Given the description of an element on the screen output the (x, y) to click on. 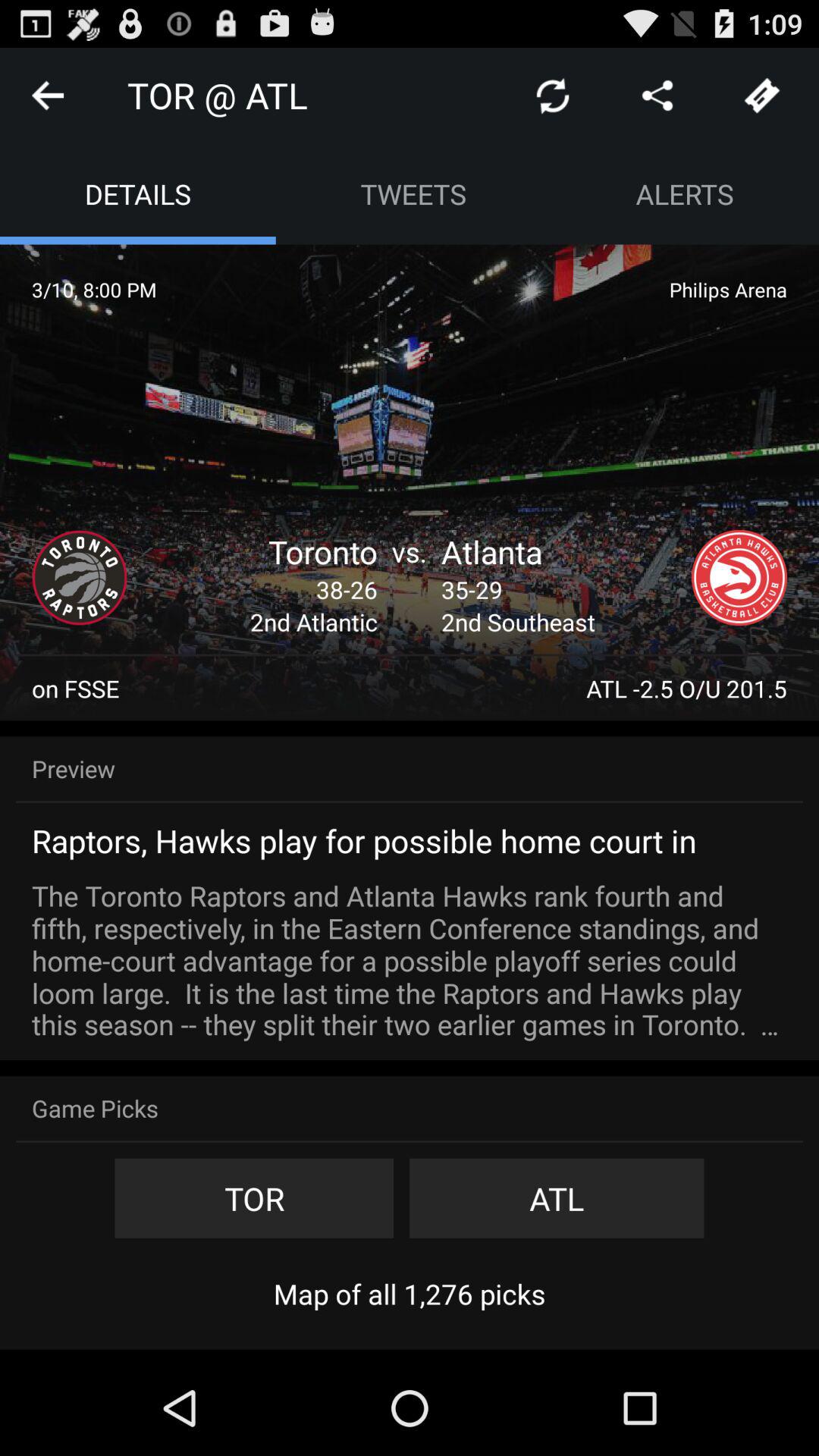
go back (47, 95)
